Given the description of an element on the screen output the (x, y) to click on. 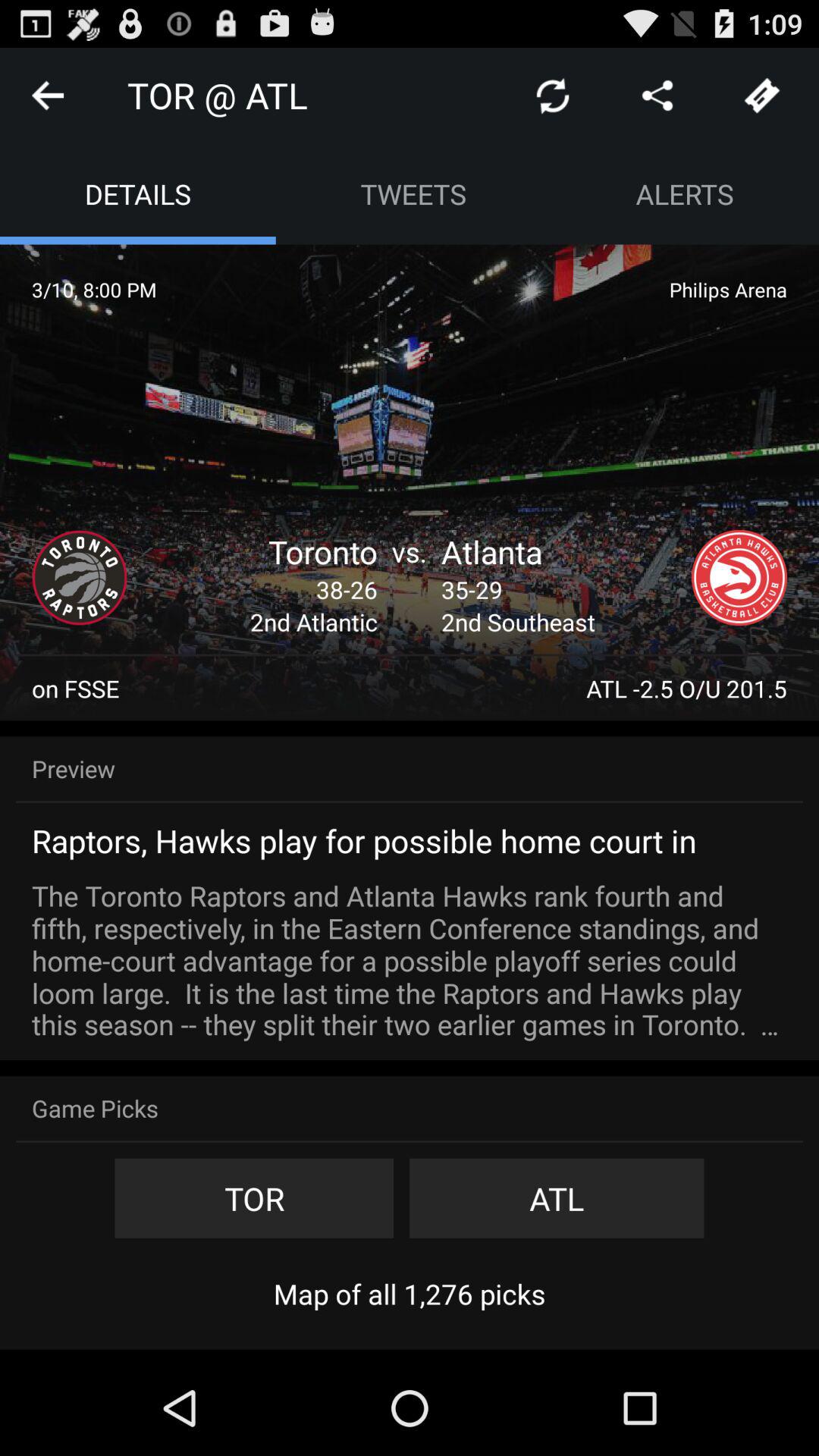
go back (47, 95)
